Given the description of an element on the screen output the (x, y) to click on. 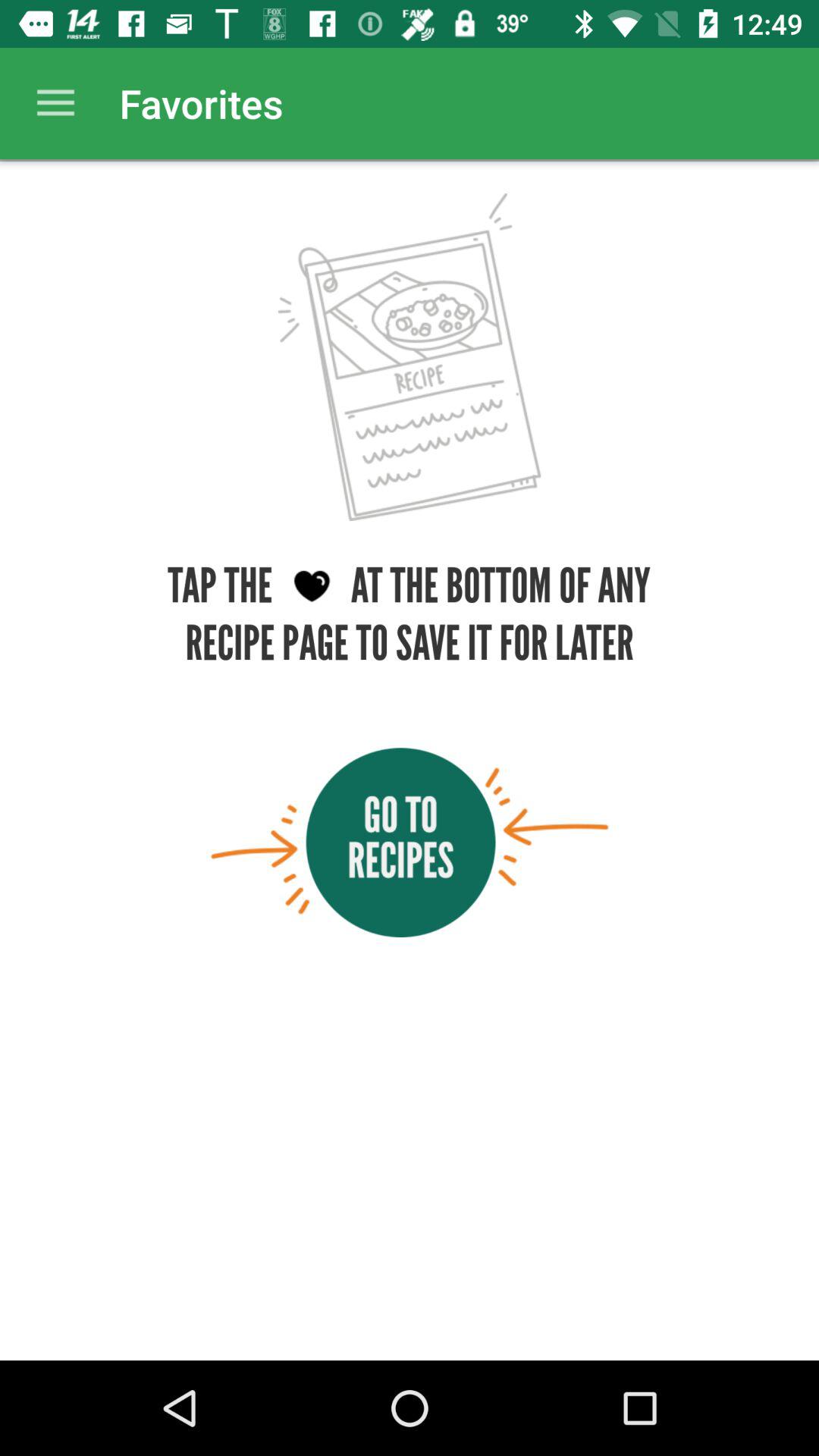
go to recipies (409, 842)
